Given the description of an element on the screen output the (x, y) to click on. 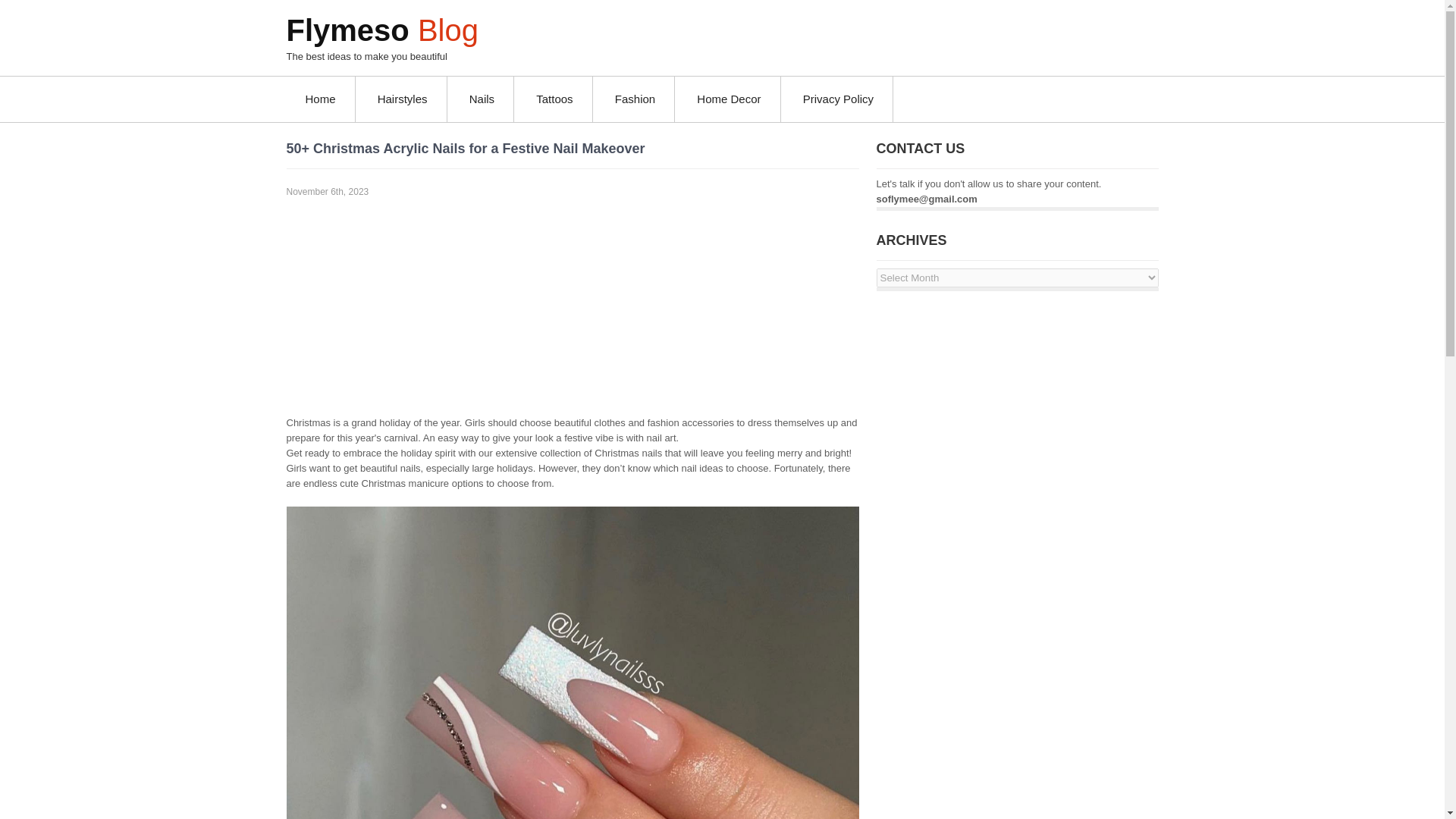
Tattoos (554, 99)
Home (320, 99)
Fashion (635, 99)
Home Decor (729, 99)
Flymeso Blog (382, 29)
Privacy Policy (838, 99)
Nails (481, 99)
Advertisement (572, 305)
Hairstyles (402, 99)
